Given the description of an element on the screen output the (x, y) to click on. 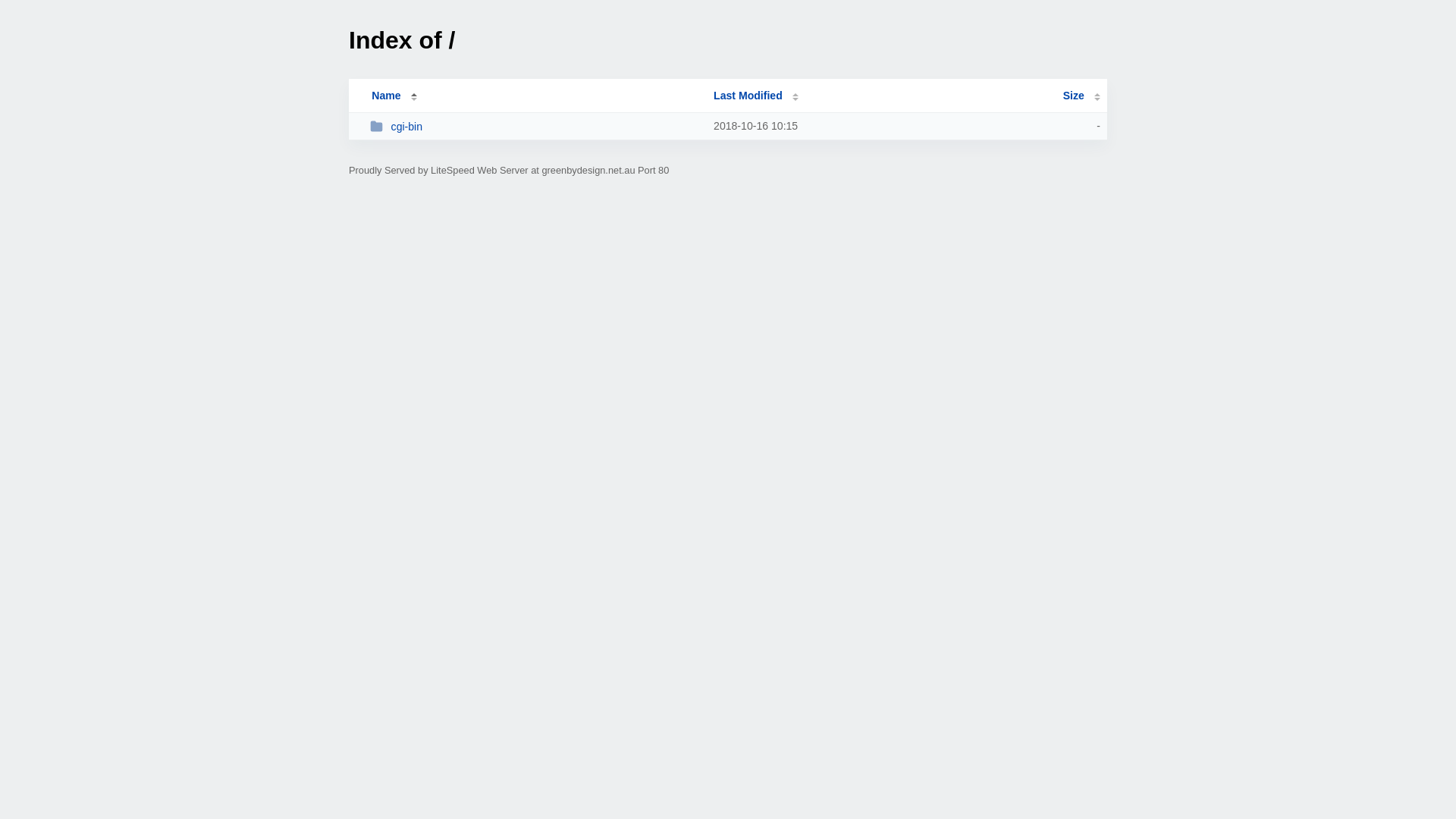
cgi-bin Element type: text (534, 125)
Size Element type: text (1081, 95)
Last Modified Element type: text (755, 95)
Name Element type: text (385, 95)
